Given the description of an element on the screen output the (x, y) to click on. 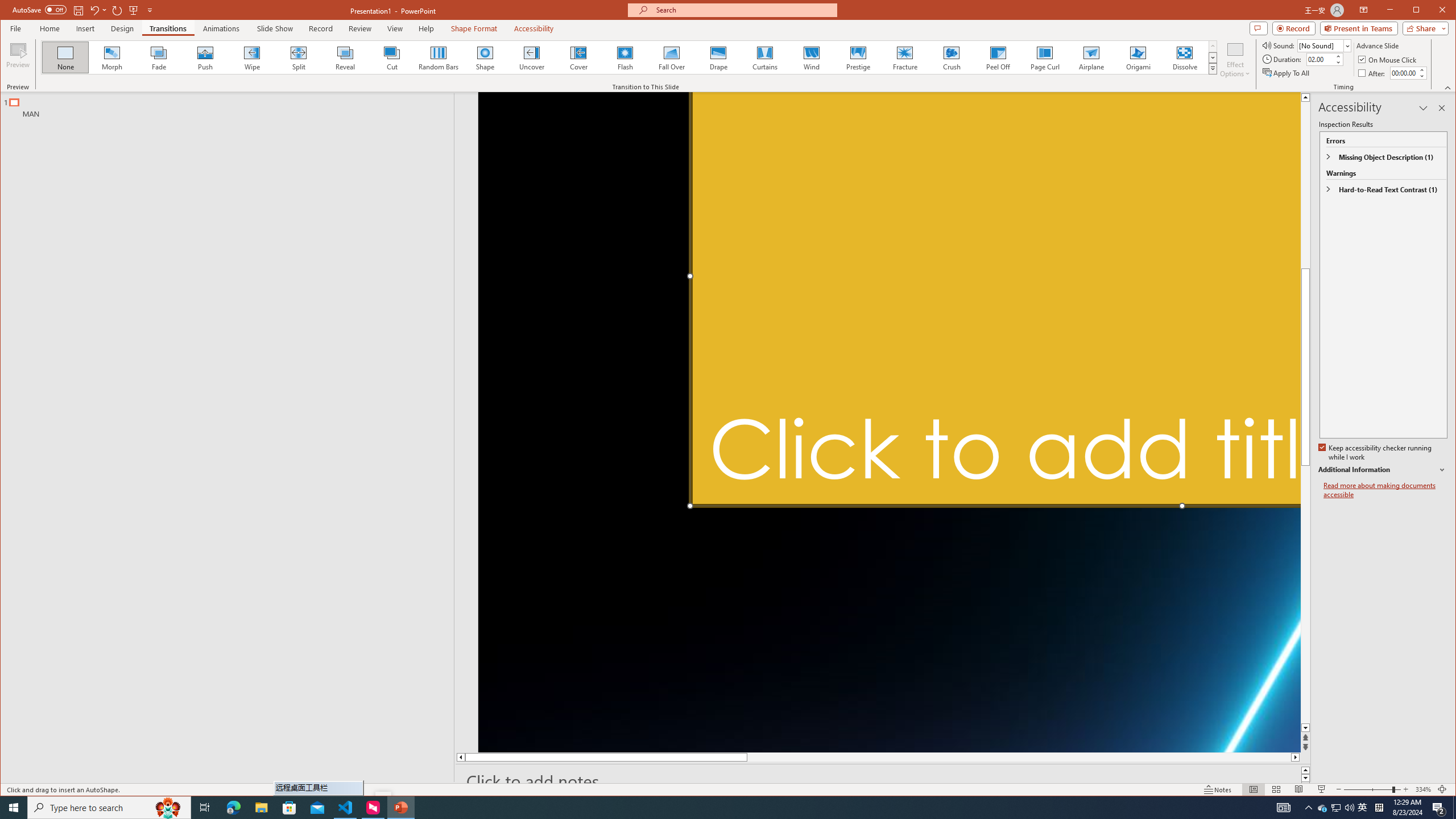
Slide Notes (882, 780)
Action Center, 2 new notifications (1439, 807)
Crush (951, 57)
Read more about making documents accessible (1385, 489)
Additional Information (1382, 469)
Wipe (251, 57)
Zoom 334% (1422, 789)
